Given the description of an element on the screen output the (x, y) to click on. 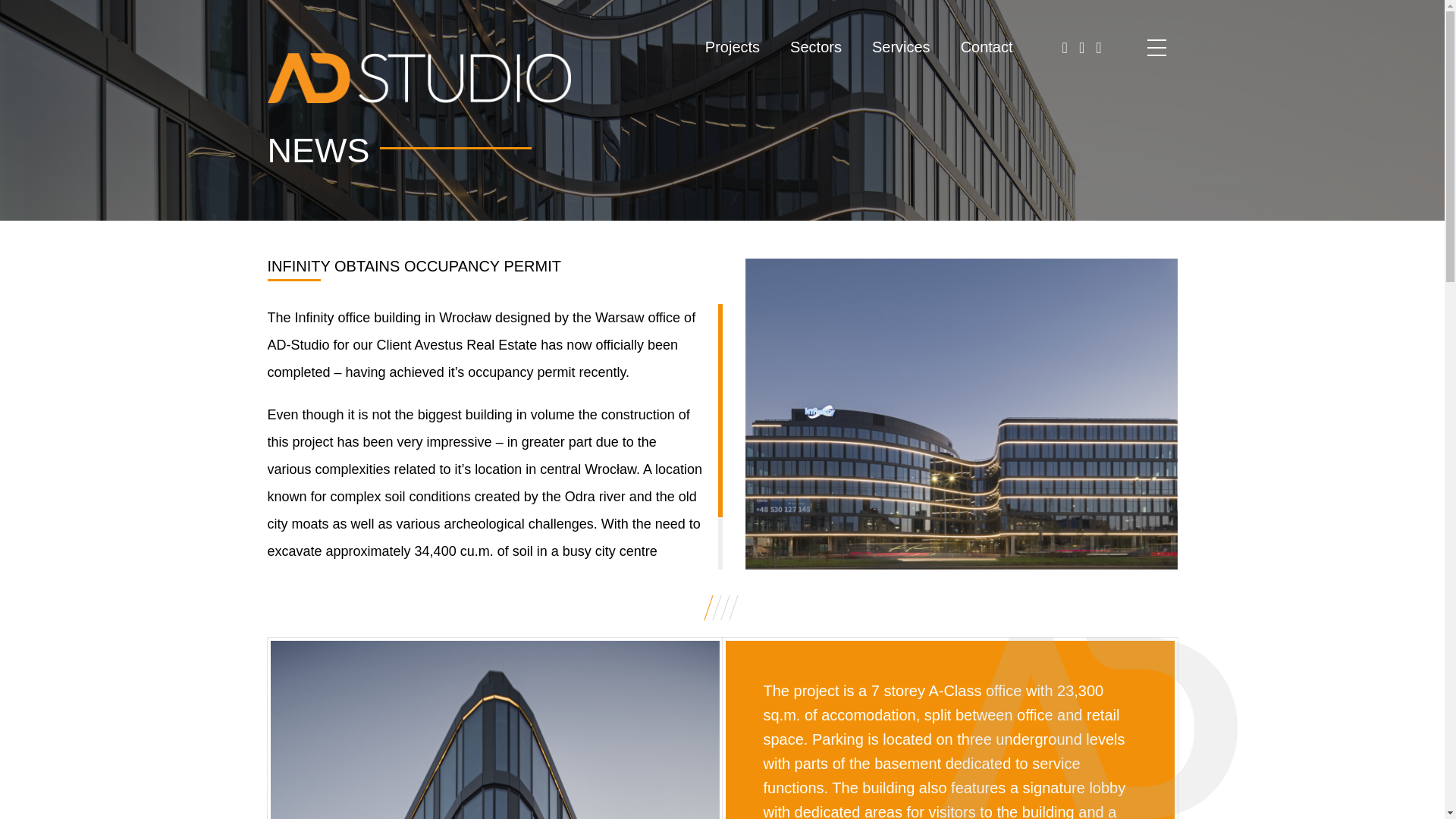
Sectors (815, 46)
Services (901, 46)
Projects (732, 46)
Contact (986, 46)
